Given the description of an element on the screen output the (x, y) to click on. 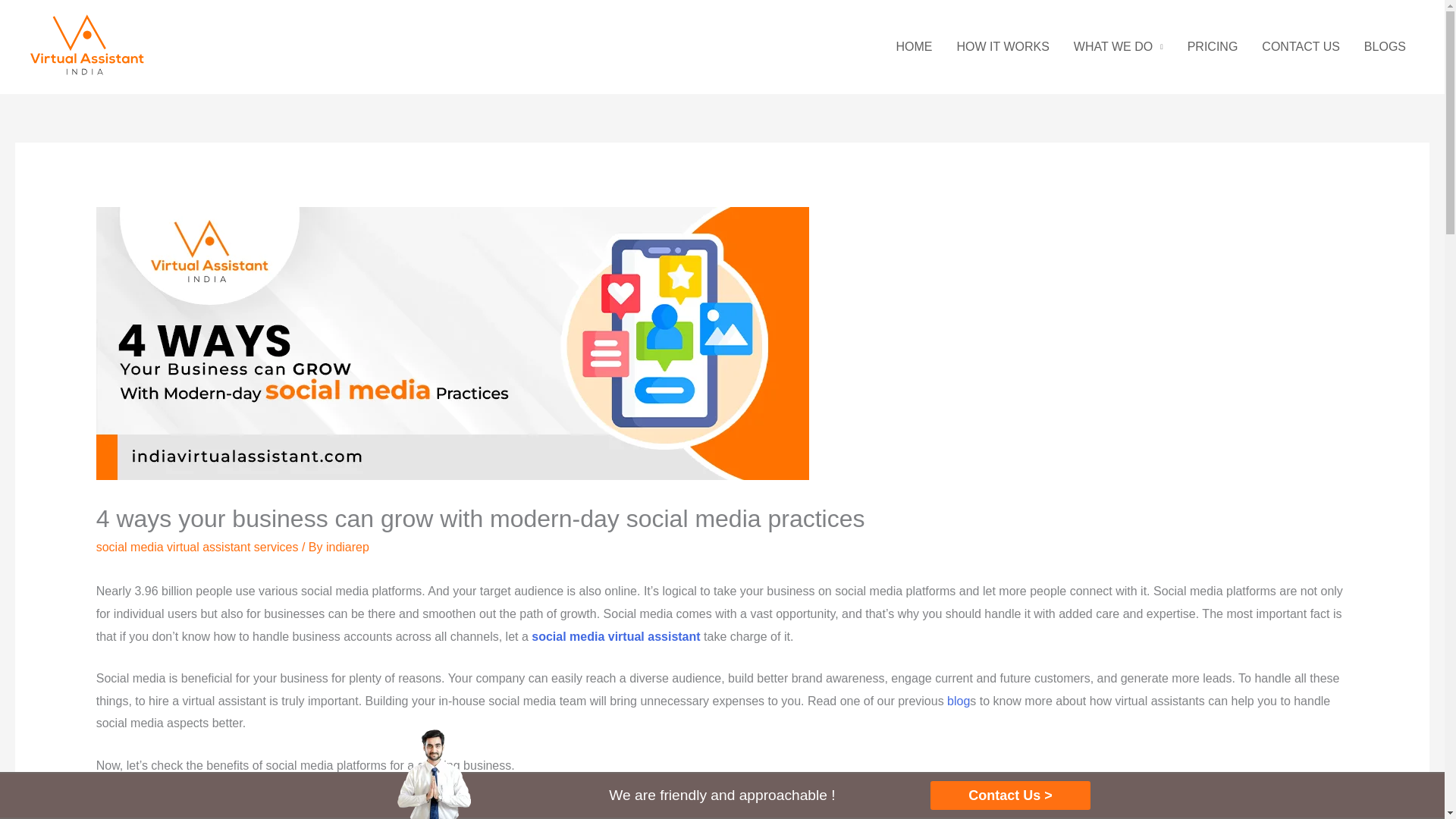
CONTACT US (1300, 46)
indiarep (347, 546)
blog (958, 700)
HOME (913, 46)
HOW IT WORKS (1002, 46)
View all posts by indiarep (347, 546)
BLOGS (1385, 46)
PRICING (1212, 46)
floating bar 2 (433, 773)
social media virtual assistant services (197, 546)
social media virtual assistant (615, 635)
WHAT WE DO (1117, 46)
